Given the description of an element on the screen output the (x, y) to click on. 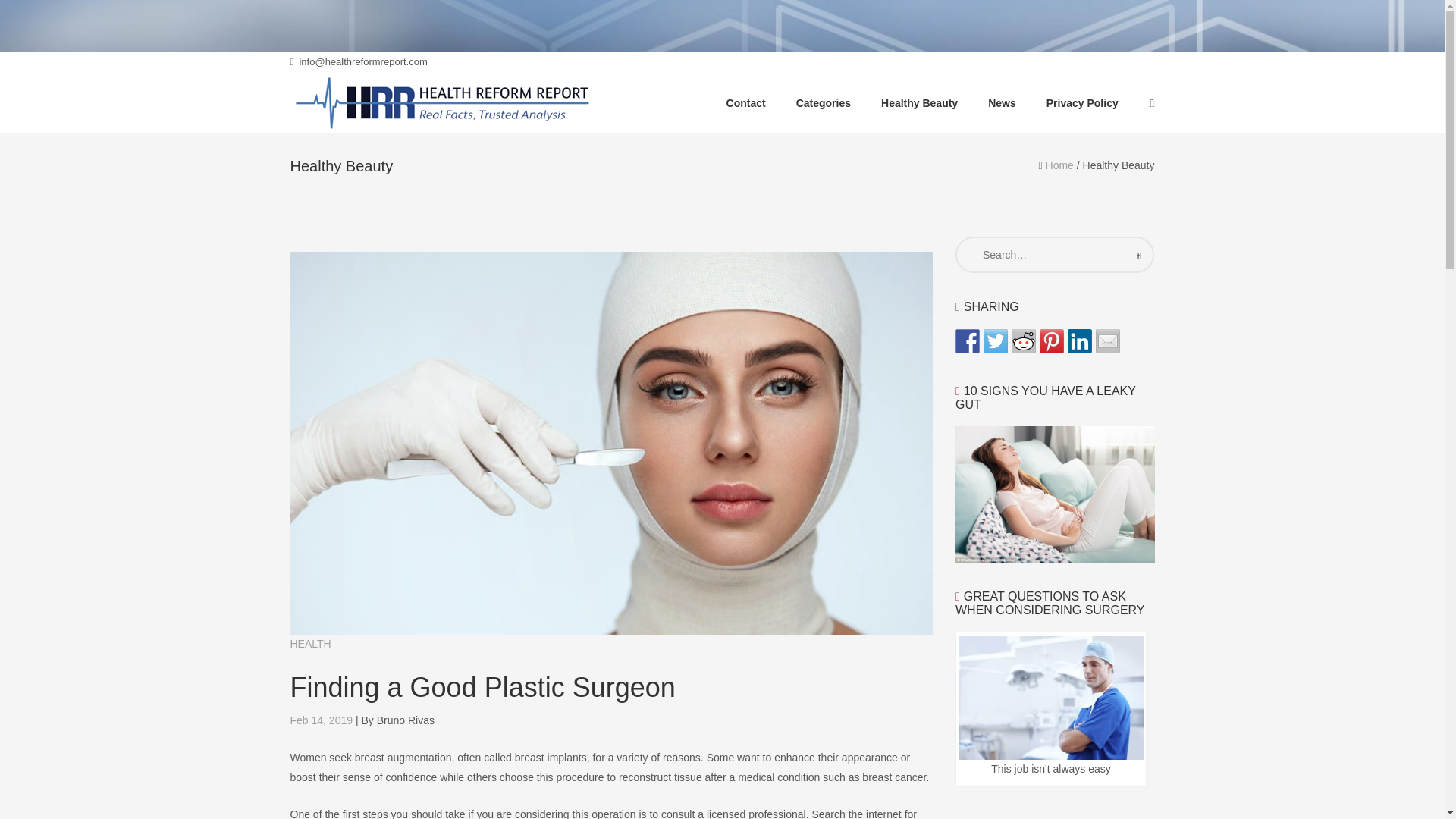
Share on Facebook (967, 340)
HEALTH (309, 644)
Healthy Beauty (919, 102)
Share by email (1107, 340)
Categories (823, 102)
Share on Reddit (1023, 340)
Share on Linkedin (1079, 340)
Privacy Policy (1082, 102)
Pin it with Pinterest (1051, 340)
Home (1059, 164)
Contact (745, 102)
Feb 14, 2019 (320, 720)
Share on Twitter (995, 340)
